Given the description of an element on the screen output the (x, y) to click on. 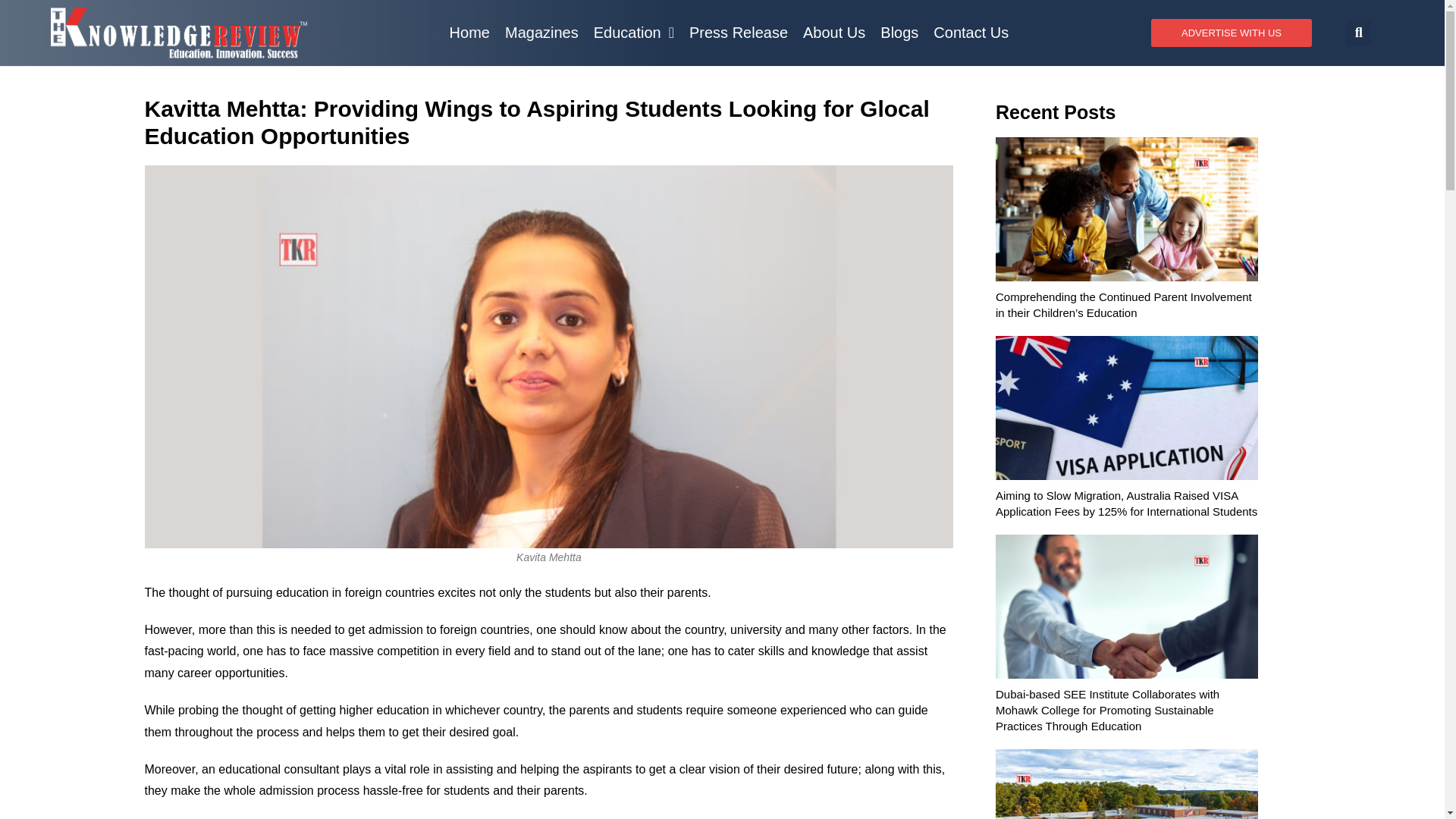
About Us (833, 32)
Contact Us (971, 32)
ADVERTISE WITH US (1232, 32)
Home (469, 32)
Education (633, 32)
Press Release (737, 32)
Magazines (541, 32)
Blogs (899, 32)
